Given the description of an element on the screen output the (x, y) to click on. 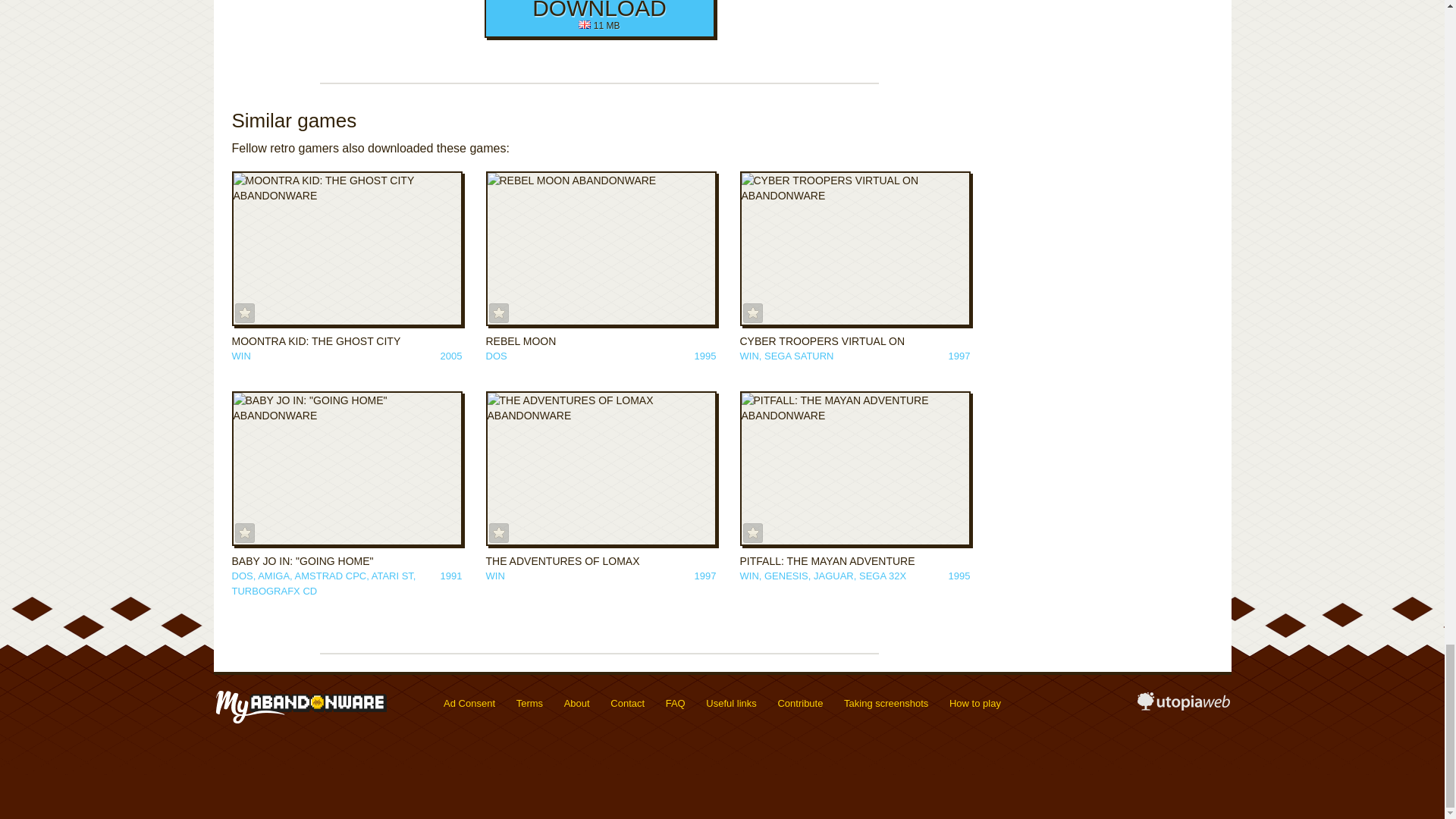
Visit utopiaweb website (1183, 706)
